Given the description of an element on the screen output the (x, y) to click on. 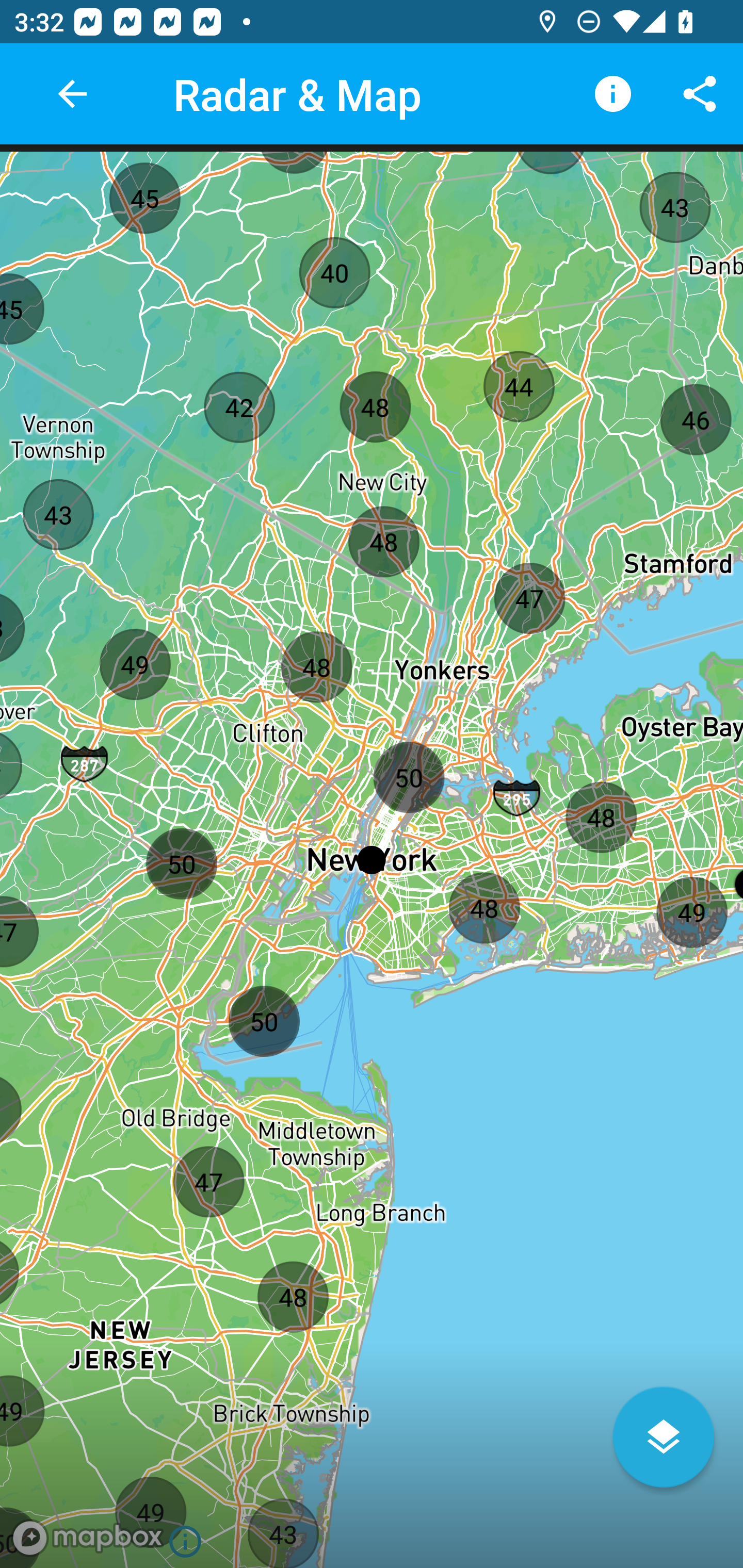
back (71, 93)
Legend (612, 93)
Share (699, 93)
Open layers menu. (663, 1437)
